Given the description of an element on the screen output the (x, y) to click on. 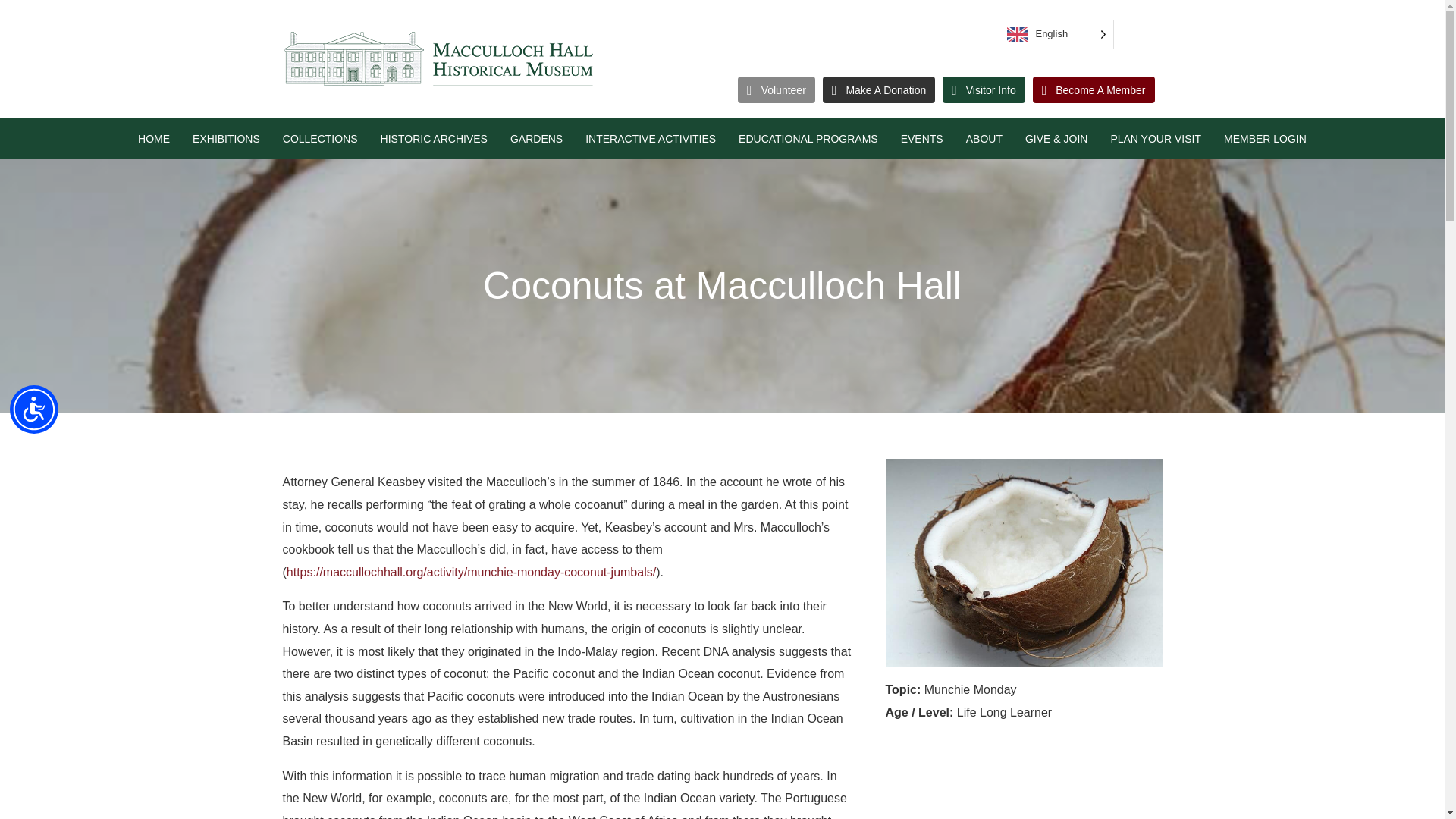
EDUCATIONAL PROGRAMS (807, 138)
EXHIBITIONS (225, 138)
coconut (1023, 562)
Visitor Info (983, 89)
Become A Member (1093, 89)
Volunteer (776, 89)
HISTORIC ARCHIVES (433, 138)
Make A Donation (878, 89)
GARDENS (536, 138)
EVENTS (921, 138)
mh-logo-2020 (437, 58)
ABOUT (984, 138)
MEMBER LOGIN (1264, 138)
PLAN YOUR VISIT (1155, 138)
Accessibility Menu (34, 409)
